Given the description of an element on the screen output the (x, y) to click on. 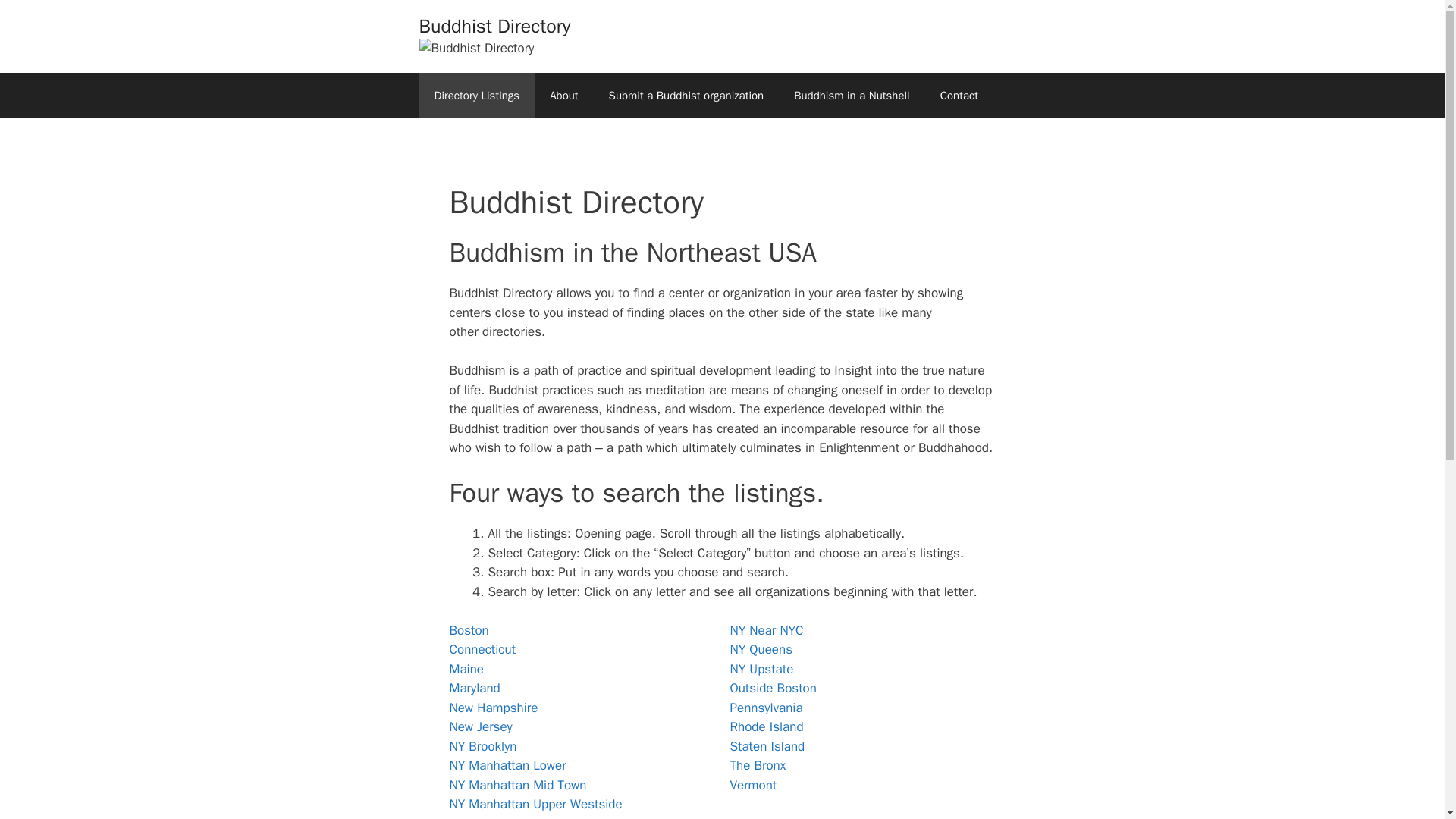
NY Near NYC (766, 630)
Maine (465, 668)
Outside Boston (772, 688)
NY Manhattan Upper Westside (534, 804)
NY Manhattan Lower (507, 765)
Boston (467, 630)
NY Brooklyn (482, 746)
Submit a Buddhist organization (686, 94)
The Bronx (757, 765)
New Hampshire (492, 707)
NY Upstate (761, 668)
Contact (958, 94)
Maryland (473, 688)
NY Manhattan Mid Town (517, 785)
About (563, 94)
